Given the description of an element on the screen output the (x, y) to click on. 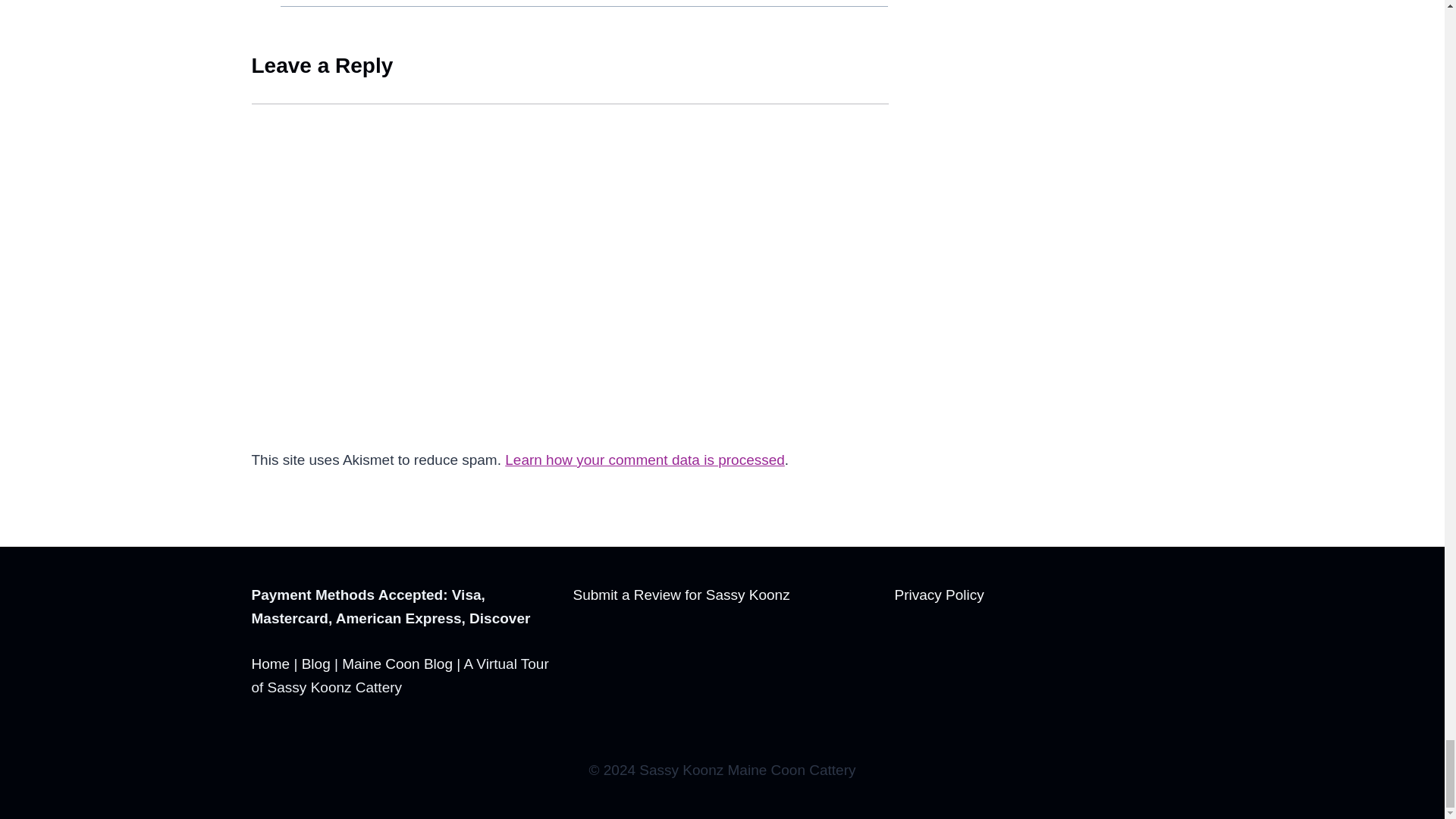
Home (270, 663)
Maine Coon Blog (397, 663)
Blog (315, 663)
